Given the description of an element on the screen output the (x, y) to click on. 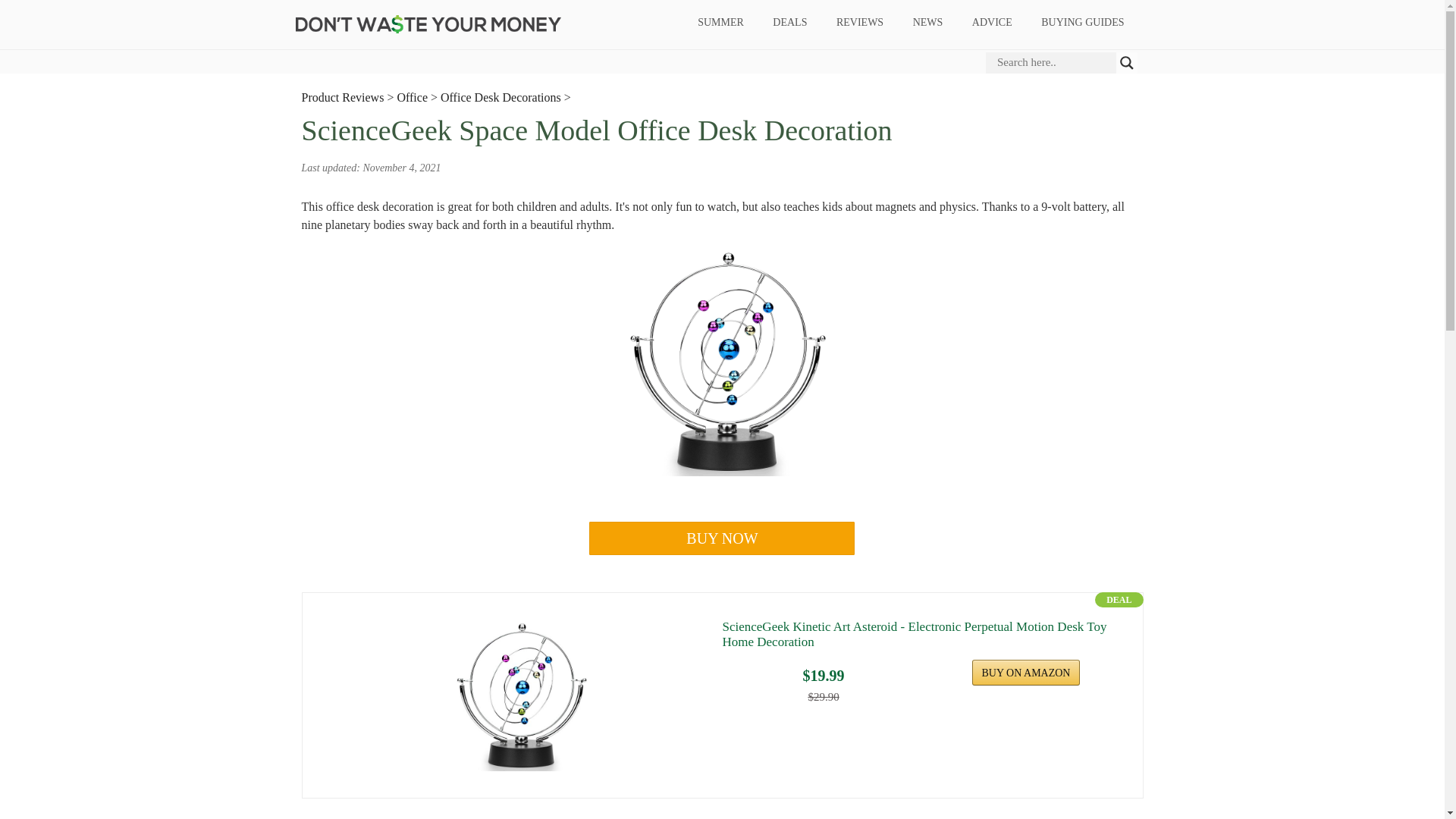
DEALS (790, 22)
REVIEWS (859, 22)
BUY ON AMAZON (1026, 672)
Office Desk Decorations (500, 97)
SUMMER (720, 22)
NEWS (927, 22)
BUY ON AMAZON (1026, 672)
ADVICE (991, 22)
Product Reviews (342, 97)
Office (412, 97)
BUY NOW (721, 538)
BUYING GUIDES (1082, 22)
